Given the description of an element on the screen output the (x, y) to click on. 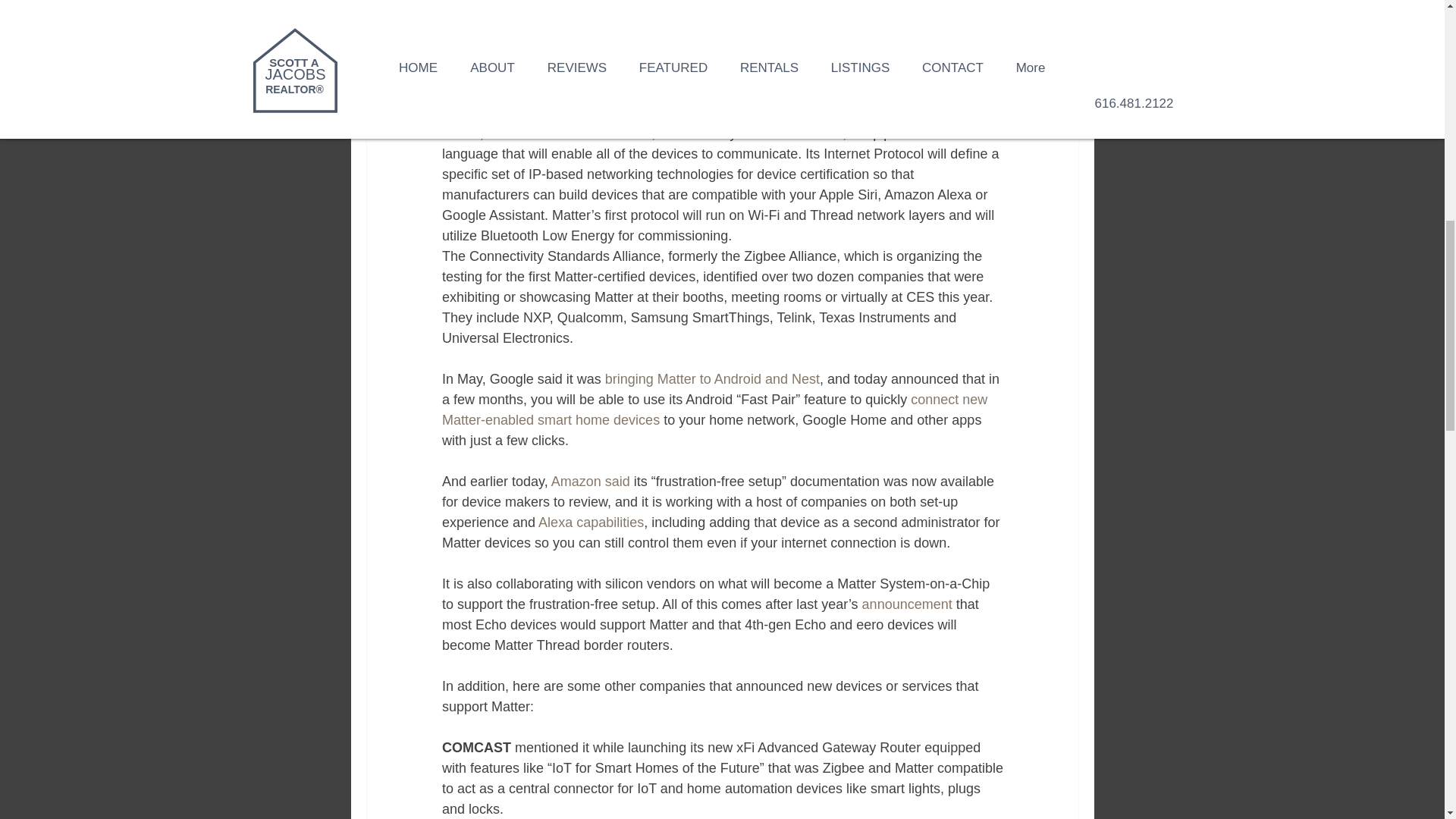
Amazon said (589, 481)
connect new Matter-enabled smart home devices (715, 409)
bringing Matter to Android and Nest (711, 378)
Alexa capabilities (590, 522)
announcement (906, 604)
